Given the description of an element on the screen output the (x, y) to click on. 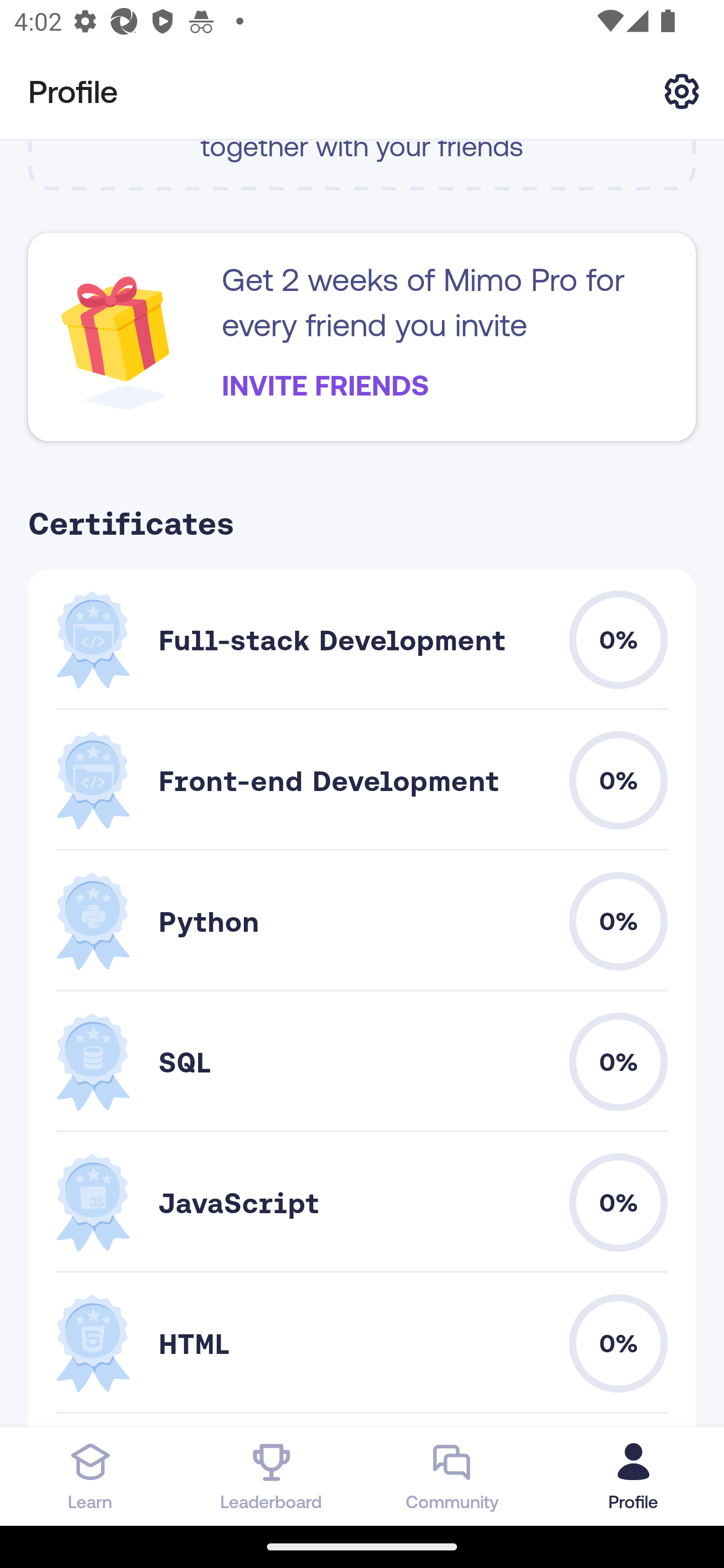
Settings (681, 90)
INVITE FRIENDS (325, 384)
Full-stack Development 0.0 0% (361, 639)
Front-end Development 0.0 0% (361, 780)
Python 0.0 0% (361, 920)
SQL 0.0 0% (361, 1061)
JavaScript 0.0 0% (361, 1202)
HTML 0.0 0% (361, 1343)
Learn (90, 1475)
Leaderboard (271, 1475)
Community (452, 1475)
